Given the description of an element on the screen output the (x, y) to click on. 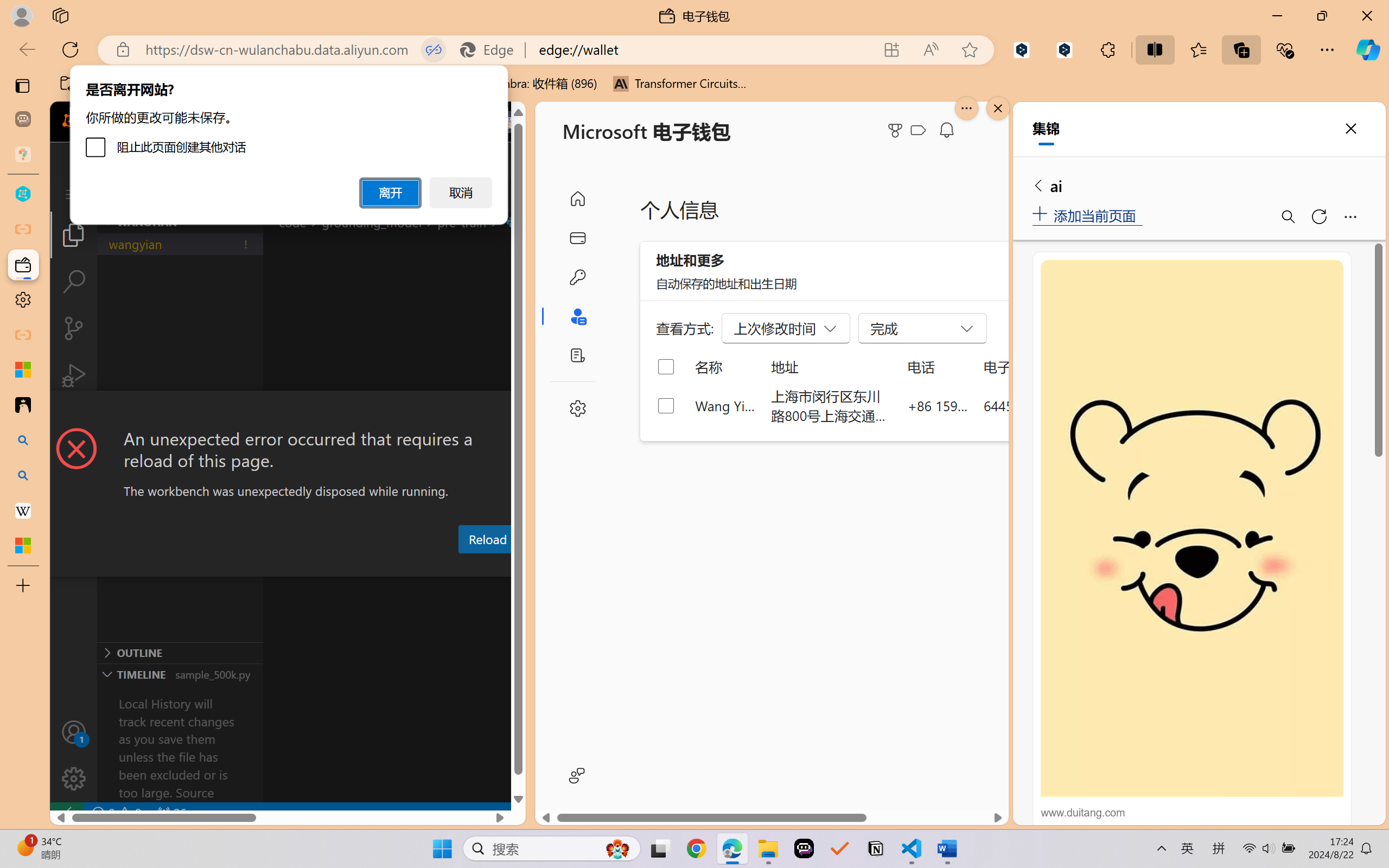
Class: ___1lmltc5 f1agt3bx f12qytpq (917, 130)
Microsoft Cashback (920, 130)
Class: actions-container (287, 410)
Debug Console (Ctrl+Shift+Y) (463, 565)
Microsoft security help and learning (22, 369)
